Given the description of an element on the screen output the (x, y) to click on. 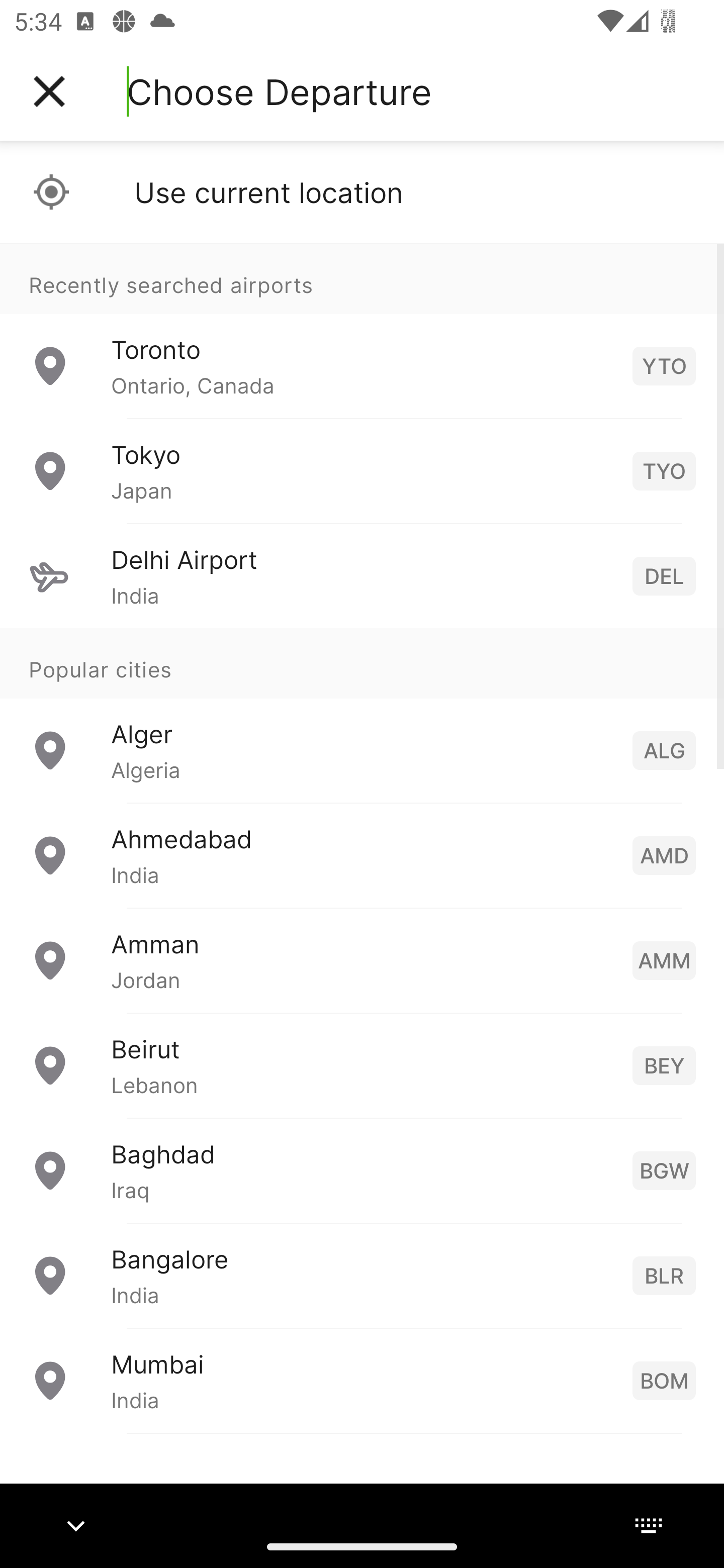
Choose Departure (279, 91)
Use current location (362, 192)
Recently searched airports (362, 278)
Tokyo Japan TYO (362, 470)
Delhi Airport India DEL (362, 575)
Popular cities Alger Algeria ALG (362, 715)
Popular cities (362, 663)
Ahmedabad India AMD (362, 854)
Amman Jordan AMM (362, 959)
Beirut Lebanon BEY (362, 1064)
Baghdad Iraq BGW (362, 1170)
Bangalore India BLR (362, 1275)
Mumbai India BOM (362, 1380)
